Given the description of an element on the screen output the (x, y) to click on. 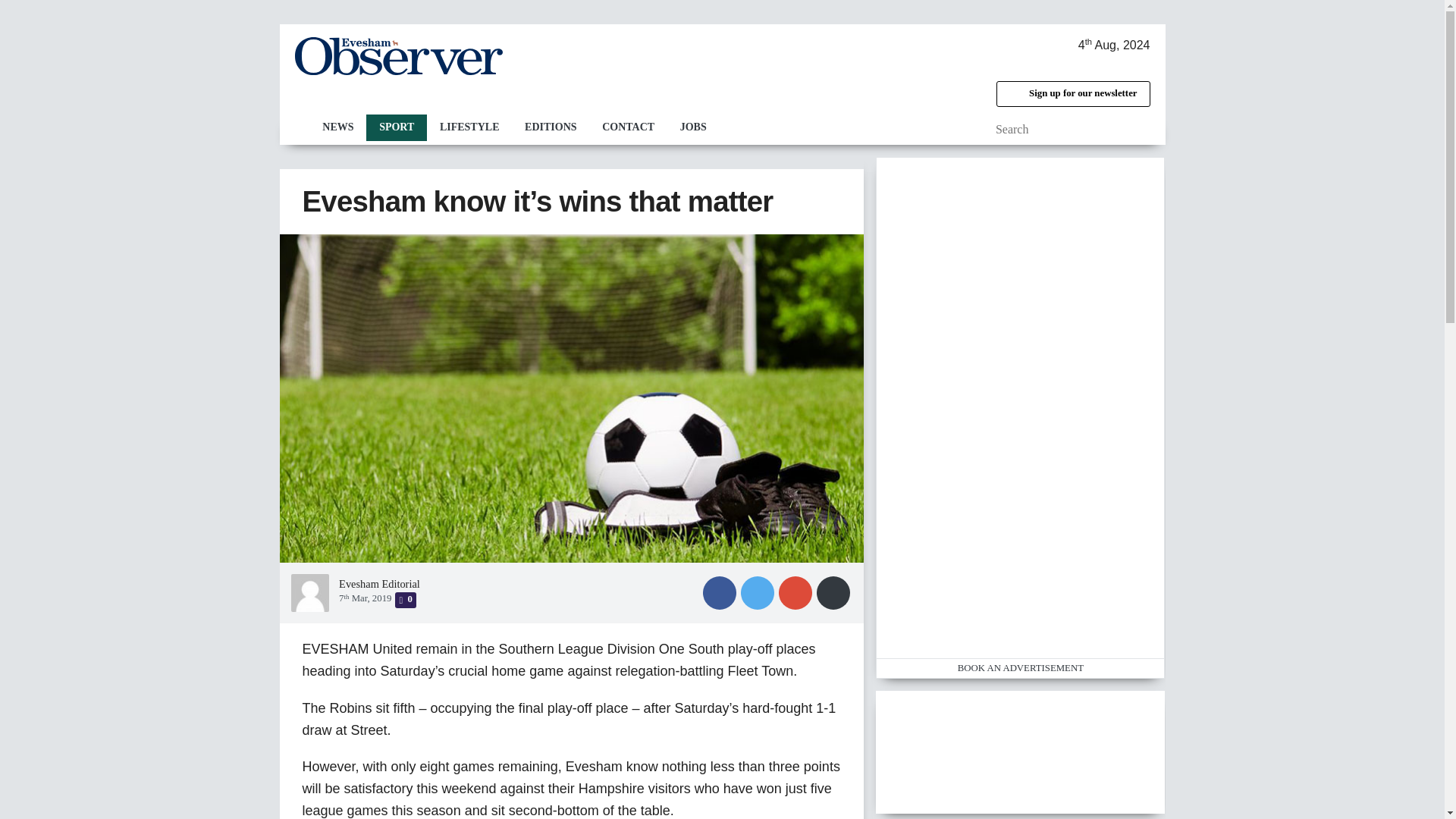
JOBS (692, 127)
EDITIONS (550, 127)
NEWS (337, 127)
  Sign up for our newsletter (1072, 94)
CONTACT (627, 127)
SPORT (396, 127)
LIFESTYLE (469, 127)
The Evesham Observer (398, 55)
